Given the description of an element on the screen output the (x, y) to click on. 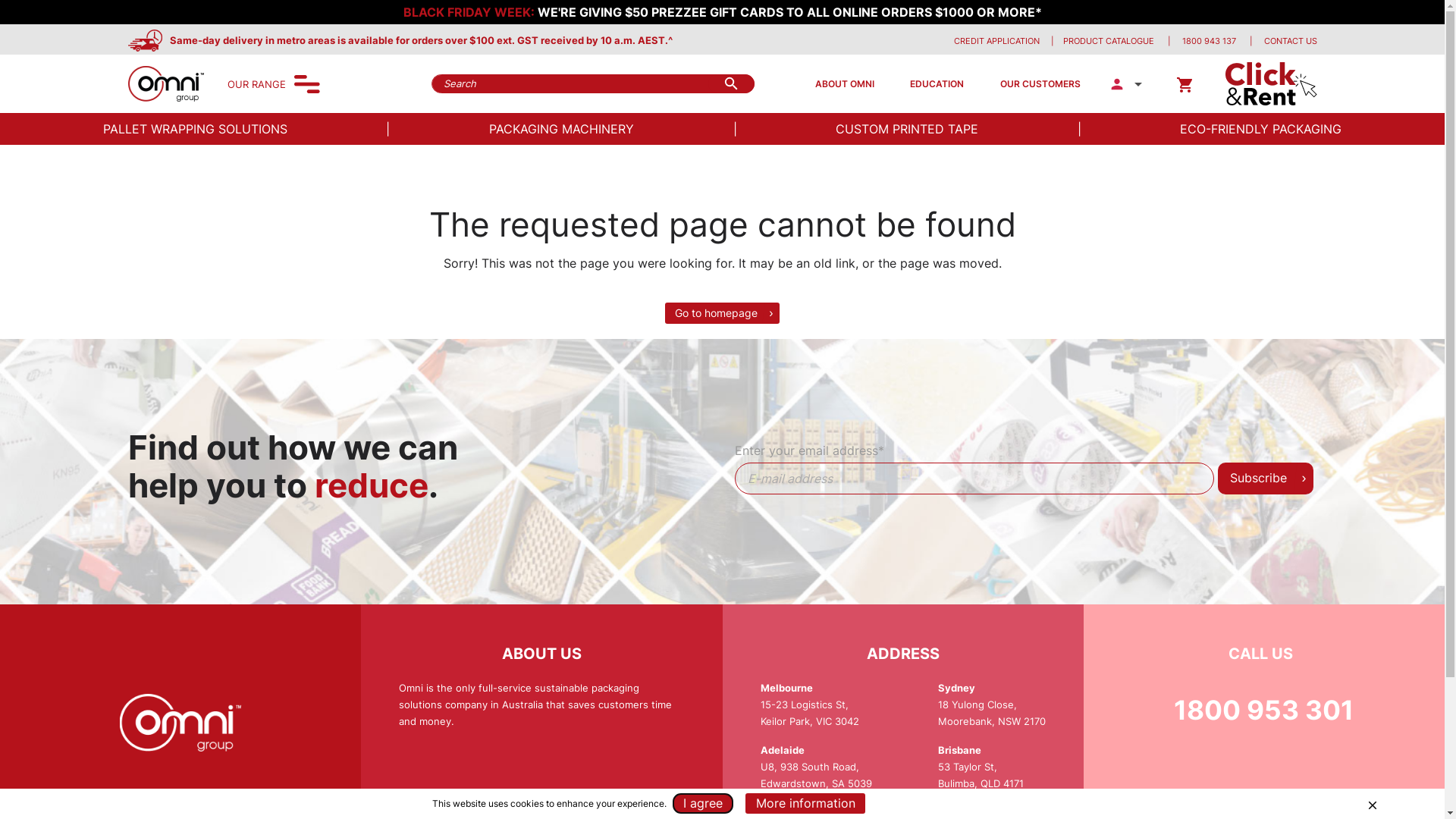
PACKAGING MACHINERY Element type: text (561, 128)
CONTACT US Element type: text (1289, 40)
Go to homepage Element type: text (721, 312)
OUR RANGE Element type: text (256, 83)
Subscribe Element type: text (1265, 478)
PRODUCT CATALOGUE Element type: text (1108, 40)
PALLET WRAPPING SOLUTIONS Element type: text (195, 128)
More information Element type: text (805, 803)
  Element type: text (1155, 40)
OUR CUSTOMERS Element type: text (1039, 83)
EDUCATION Element type: text (936, 83)
I agree Element type: text (702, 803)
1800 943 137 Element type: text (1208, 40)
ABOUT OMNI Element type: text (843, 83)
CREDIT APPLICATION Element type: text (996, 40)
ECO-FRIENDLY PACKAGING Element type: text (1260, 128)
CUSTOM PRINTED TAPE Element type: text (906, 128)
